Given the description of an element on the screen output the (x, y) to click on. 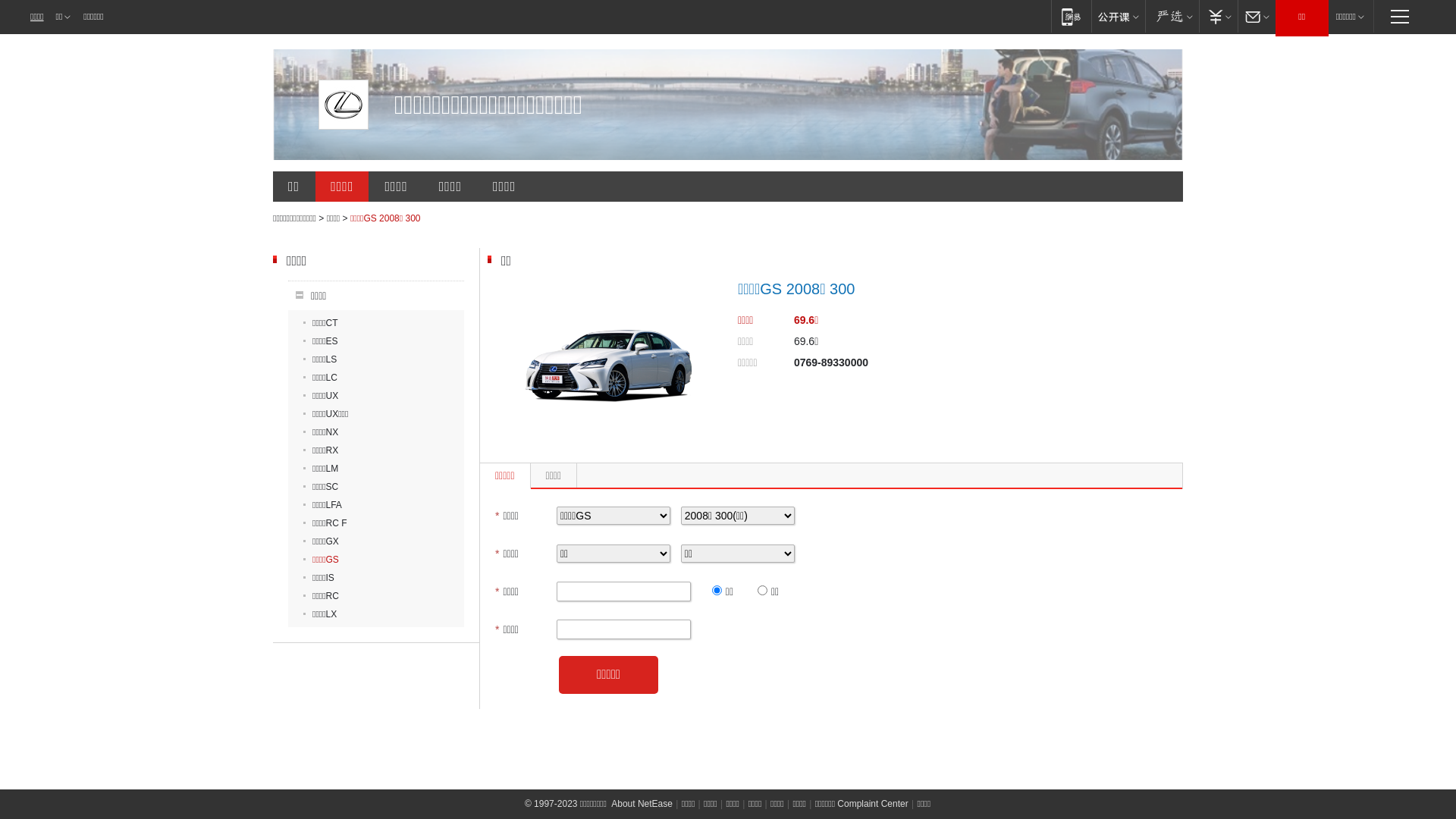
About NetEase Element type: text (641, 803)
